Given the description of an element on the screen output the (x, y) to click on. 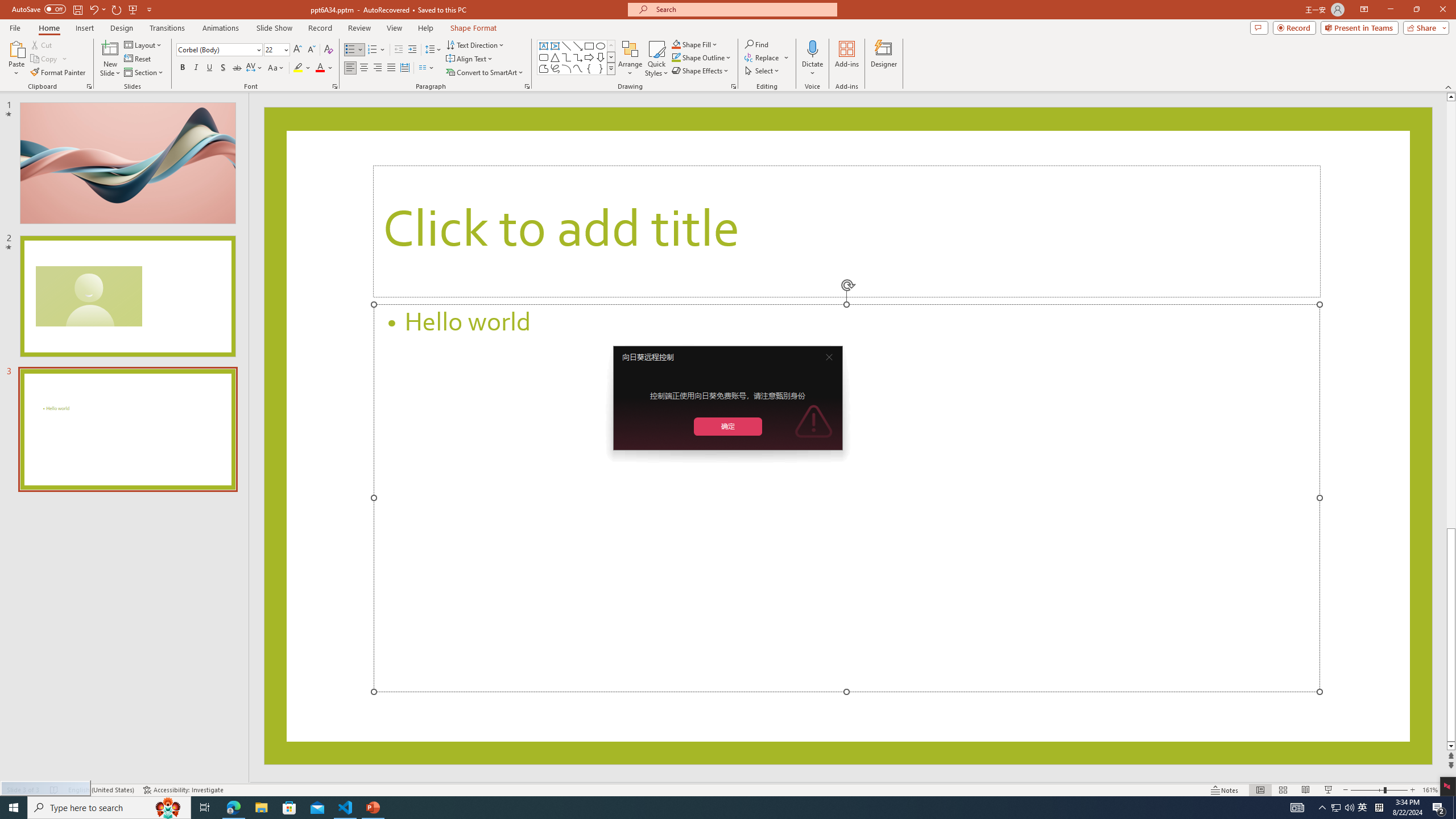
Shape Fill Red, Accent 2 (675, 44)
